Given the description of an element on the screen output the (x, y) to click on. 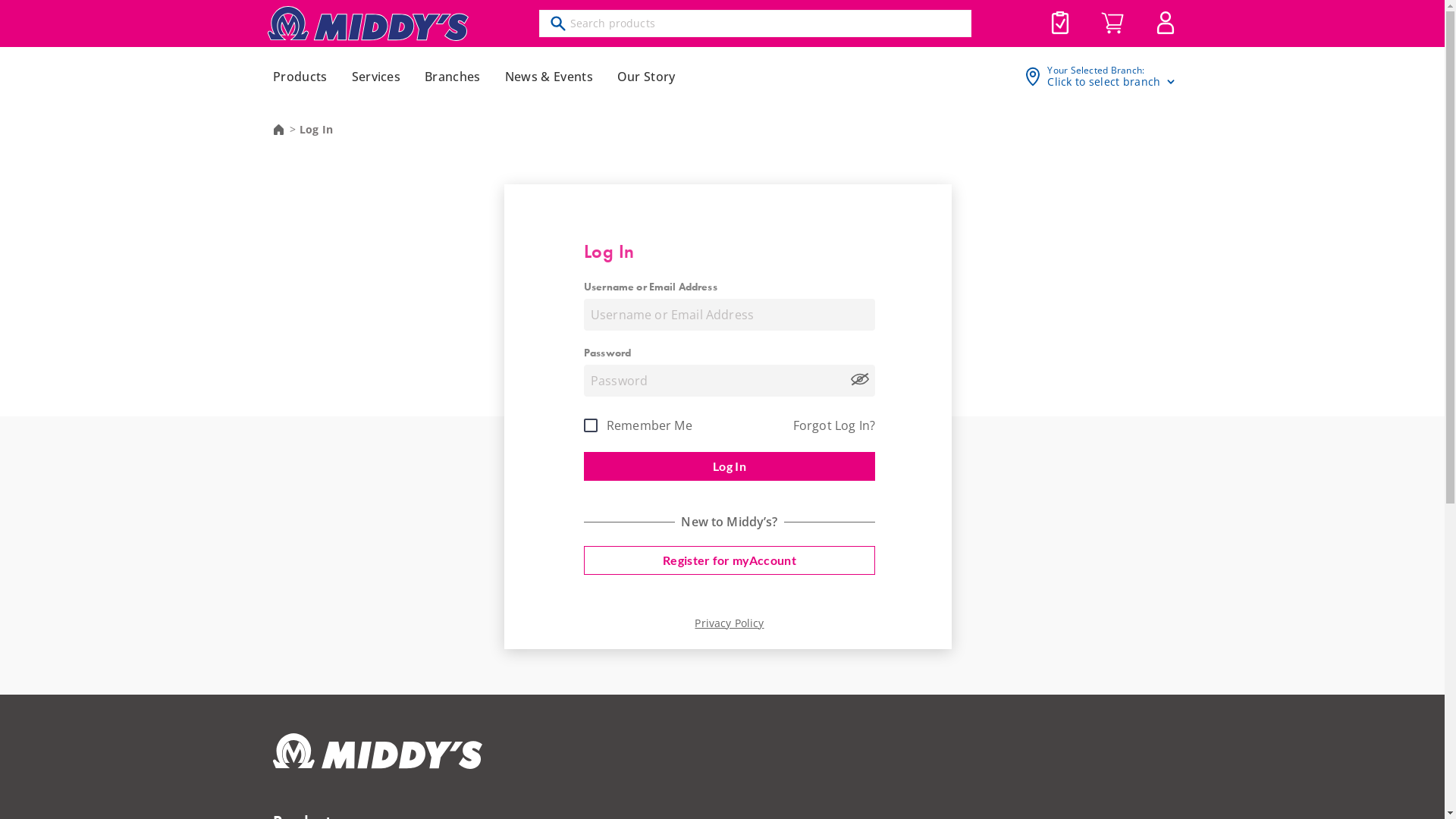
Log In Element type: text (729, 465)
Click to select branch Element type: text (1111, 81)
Forgot Log In? Element type: text (834, 425)
News & Events Element type: text (549, 76)
Bookmarks Element type: text (1060, 22)
Services Element type: text (376, 76)
Cart Element type: text (1112, 23)
Products Element type: text (300, 76)
User Element type: text (1164, 22)
Register for myAccount Element type: text (729, 560)
Our Story Element type: text (646, 76)
Privacy Policy Element type: text (728, 623)
Branches Element type: text (452, 76)
